Given the description of an element on the screen output the (x, y) to click on. 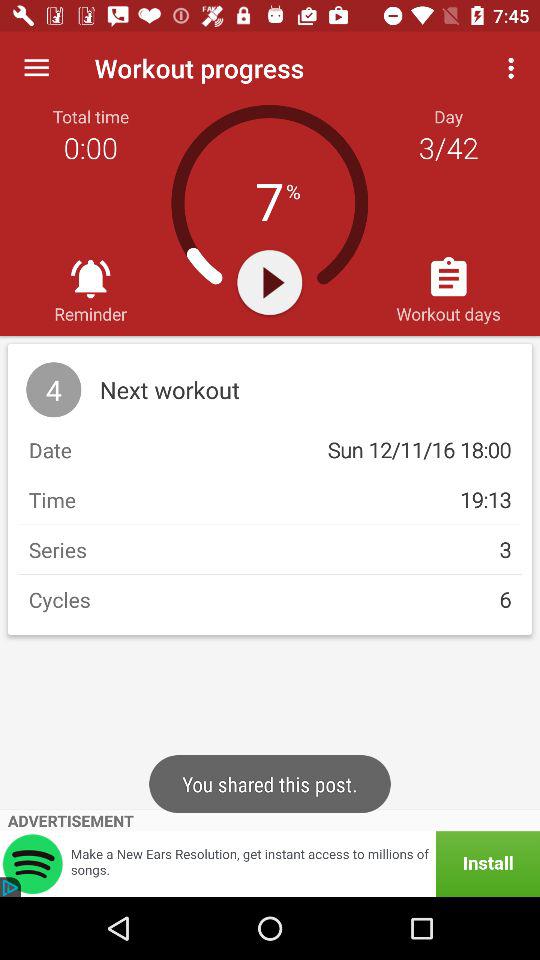
start workout (269, 282)
